Given the description of an element on the screen output the (x, y) to click on. 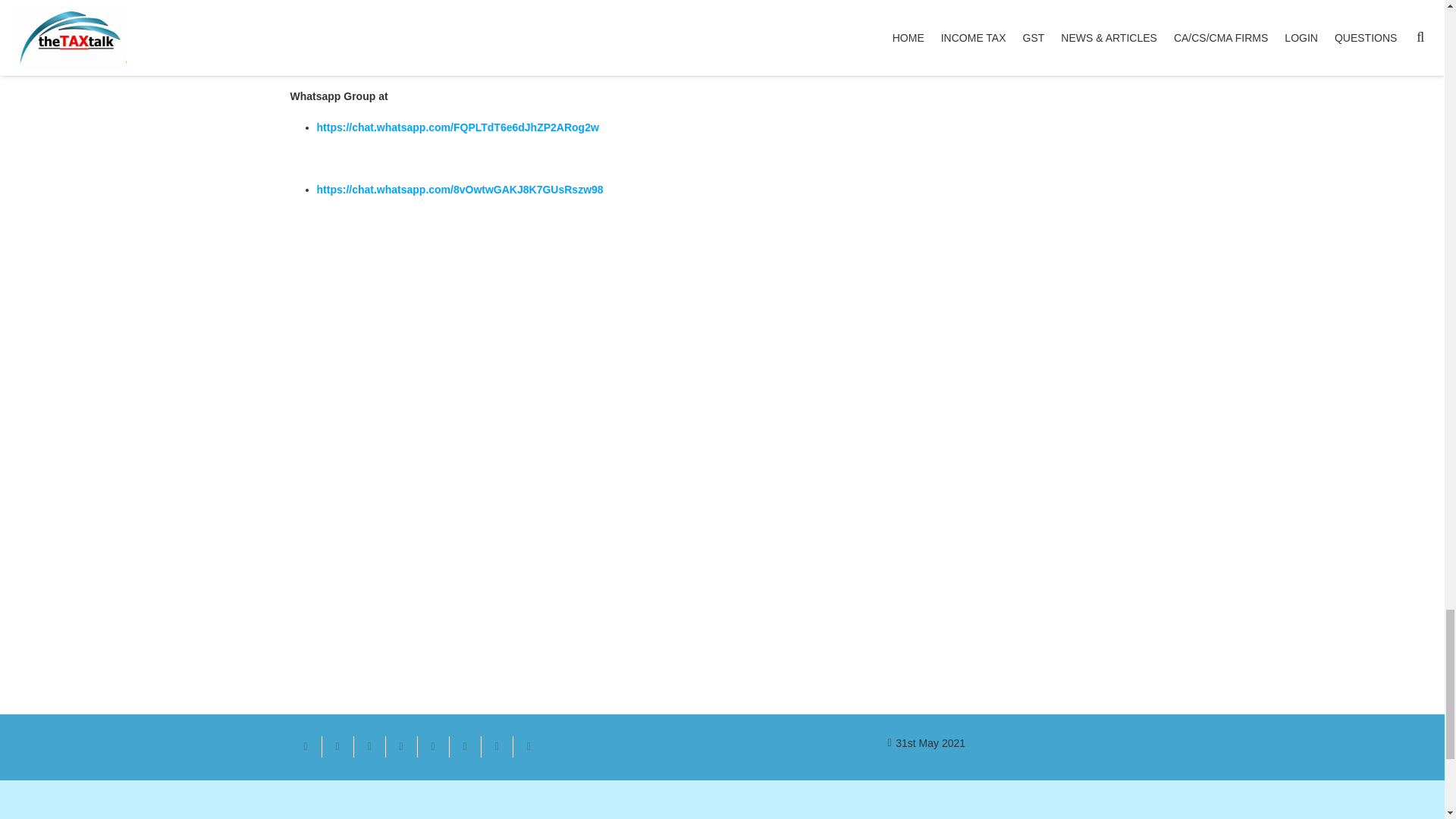
Share this (496, 746)
Pin this (432, 746)
Share this (528, 746)
Share this (464, 746)
Share this (337, 746)
Email this (305, 746)
Share this (400, 746)
Tweet this (369, 746)
